Given the description of an element on the screen output the (x, y) to click on. 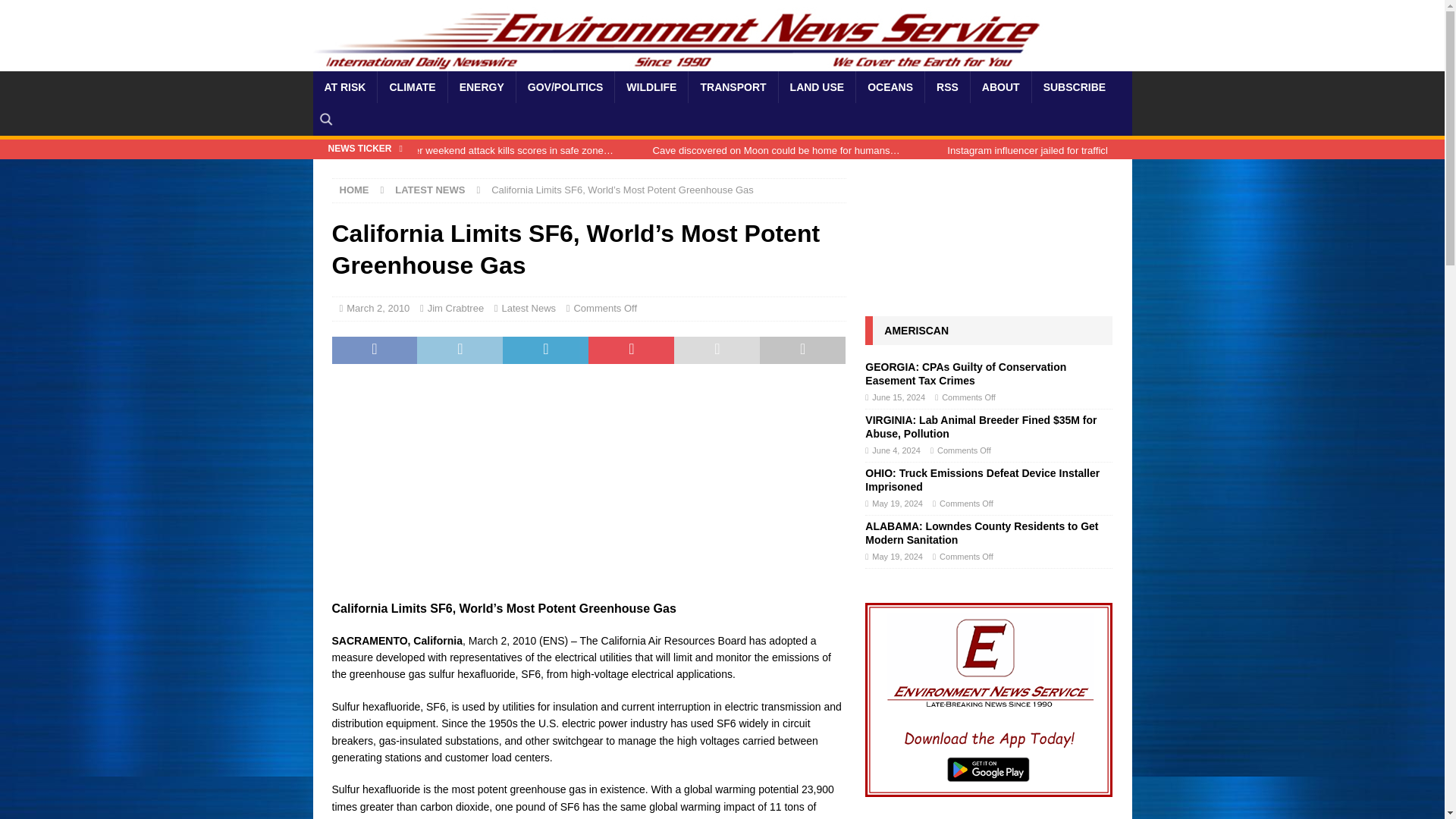
LATEST NEWS (429, 189)
Advertisement (623, 489)
Search (56, 11)
March 2, 2010 (377, 307)
SUBSCRIBE (1073, 87)
WILDLIFE (650, 87)
LAND USE (816, 87)
CLIMATE (411, 87)
HOME (354, 189)
AT RISK (345, 87)
ABOUT (999, 87)
ENERGY (480, 87)
OCEANS (890, 87)
RSS (946, 87)
TRANSPORT (732, 87)
